Given the description of an element on the screen output the (x, y) to click on. 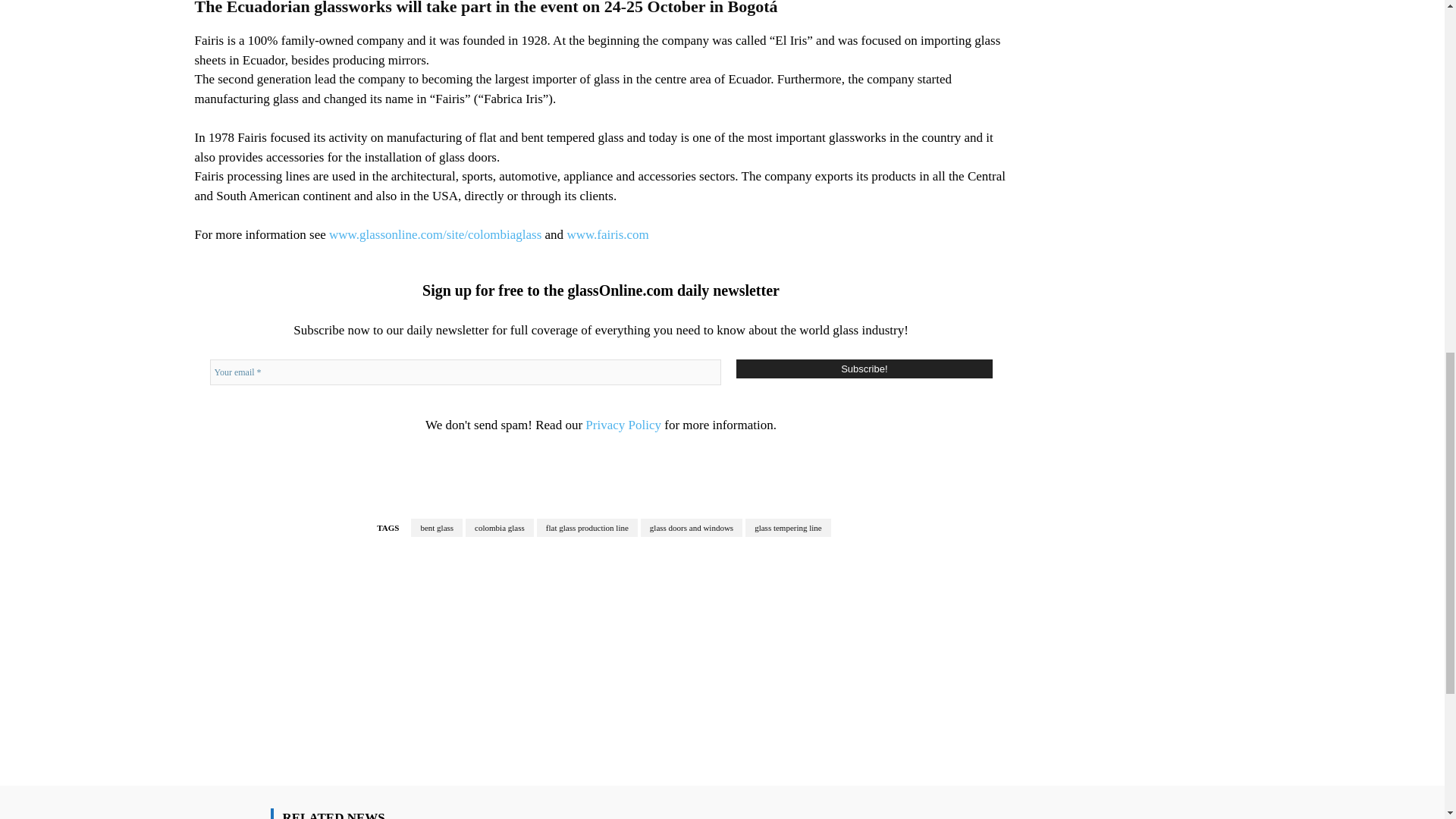
Subscribe! (863, 368)
Your email (464, 371)
